Given the description of an element on the screen output the (x, y) to click on. 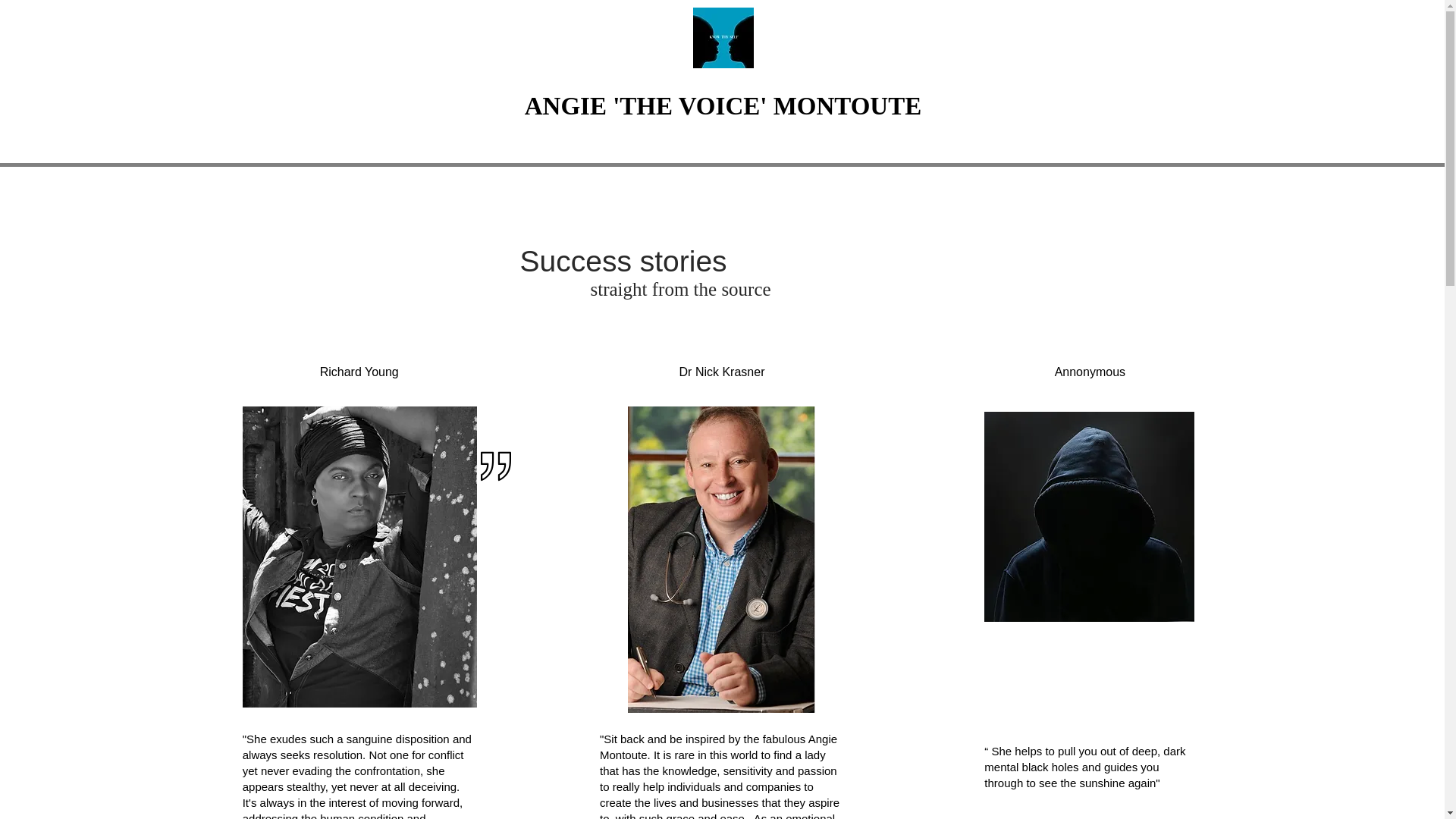
ANGIE 'THE VOICE' MONTOUTE (722, 105)
